Given the description of an element on the screen output the (x, y) to click on. 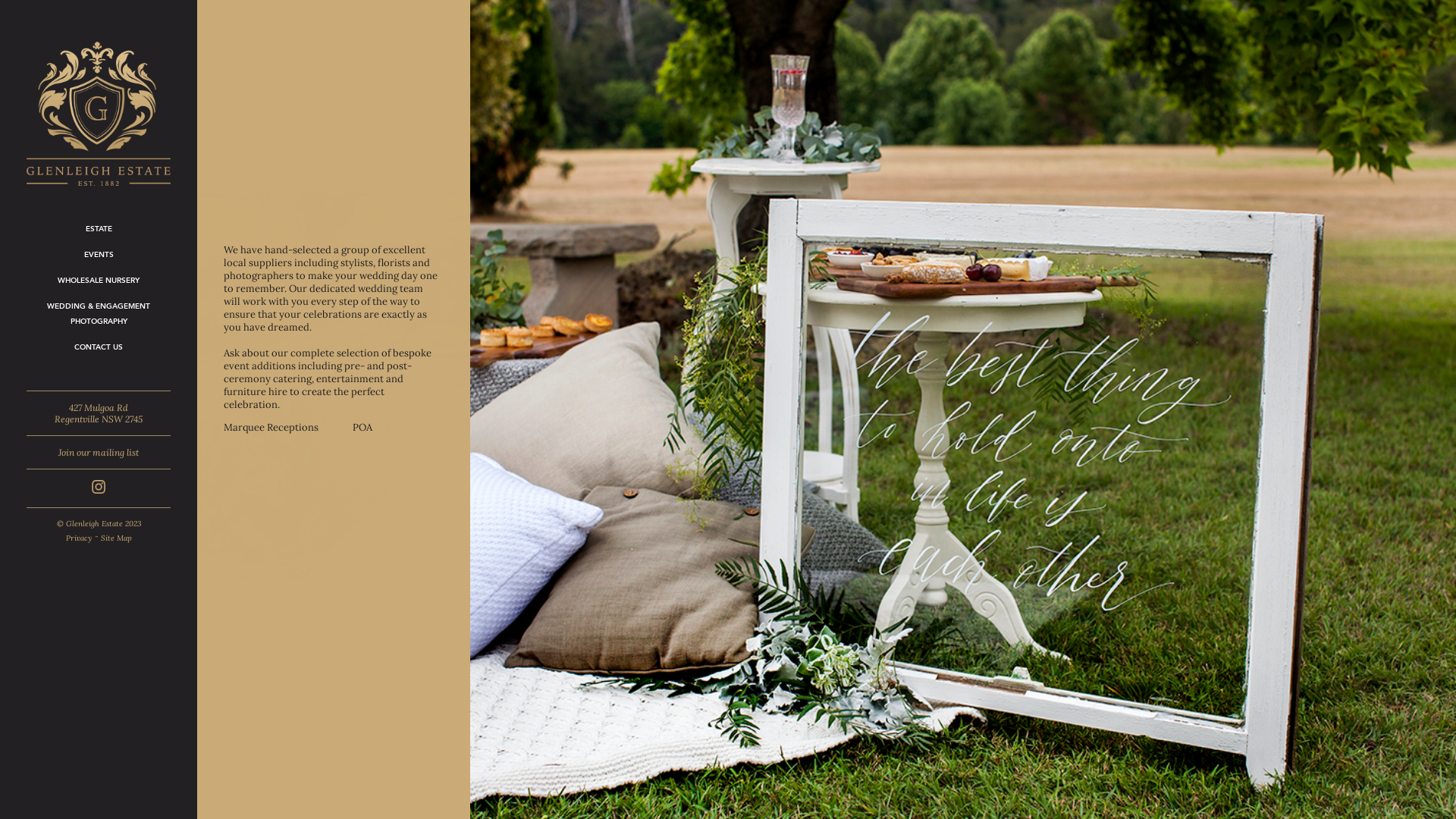
Join our mailing list Element type: text (98, 452)
WHOLESALE NURSERY Element type: text (98, 281)
Site Map Element type: text (115, 537)
CONTACT US Element type: text (98, 347)
ESTATE Element type: text (97, 229)
Privacy Element type: text (78, 537)
WEDDING & ENGAGEMENT PHOTOGRAPHY Element type: text (98, 314)
EVENTS Element type: text (97, 255)
